Given the description of an element on the screen output the (x, y) to click on. 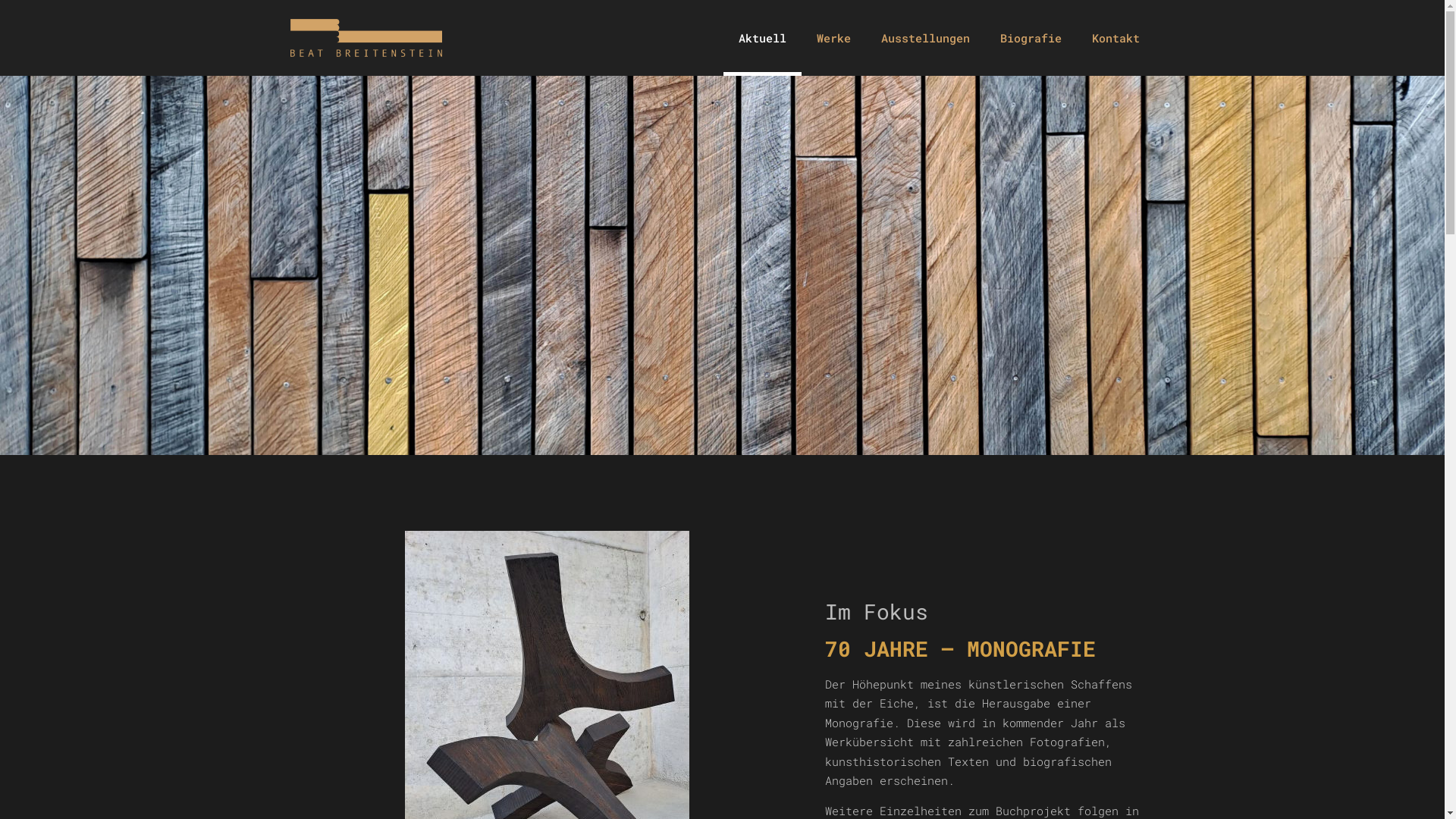
Werke Element type: text (832, 37)
Ausstellungen Element type: text (925, 37)
Aktuell Element type: text (762, 37)
Kontakt Element type: text (1115, 37)
Biografie Element type: text (1030, 37)
